Given the description of an element on the screen output the (x, y) to click on. 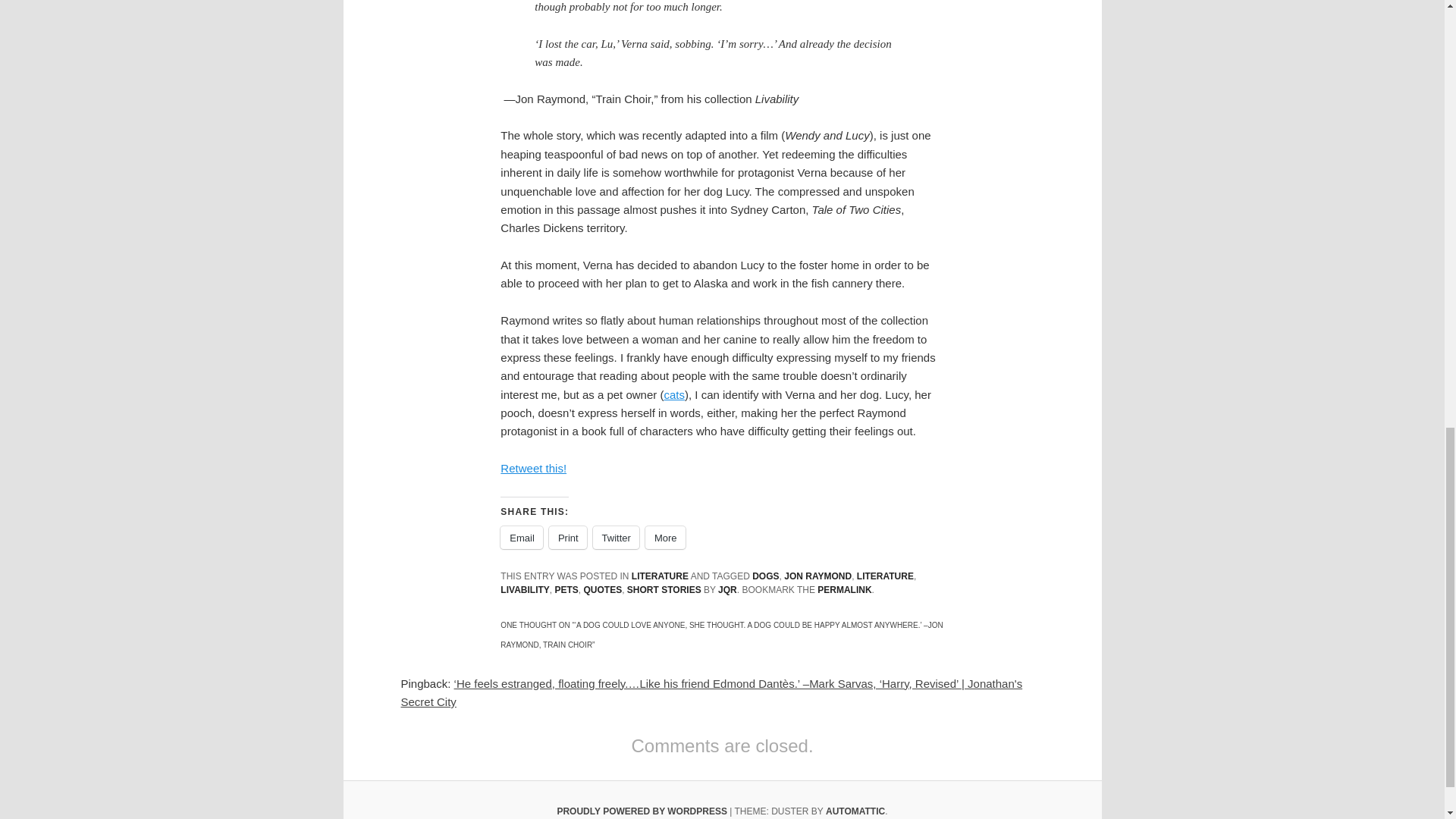
Retweet this! (533, 468)
Click to email a link to a friend (521, 537)
Print (567, 537)
PETS (566, 589)
LIVABILITY (524, 589)
SHORT STORIES (664, 589)
A Semantic Personal Publishing Platform (641, 810)
JON RAYMOND (817, 575)
LITERATURE (659, 575)
Email (521, 537)
